Given the description of an element on the screen output the (x, y) to click on. 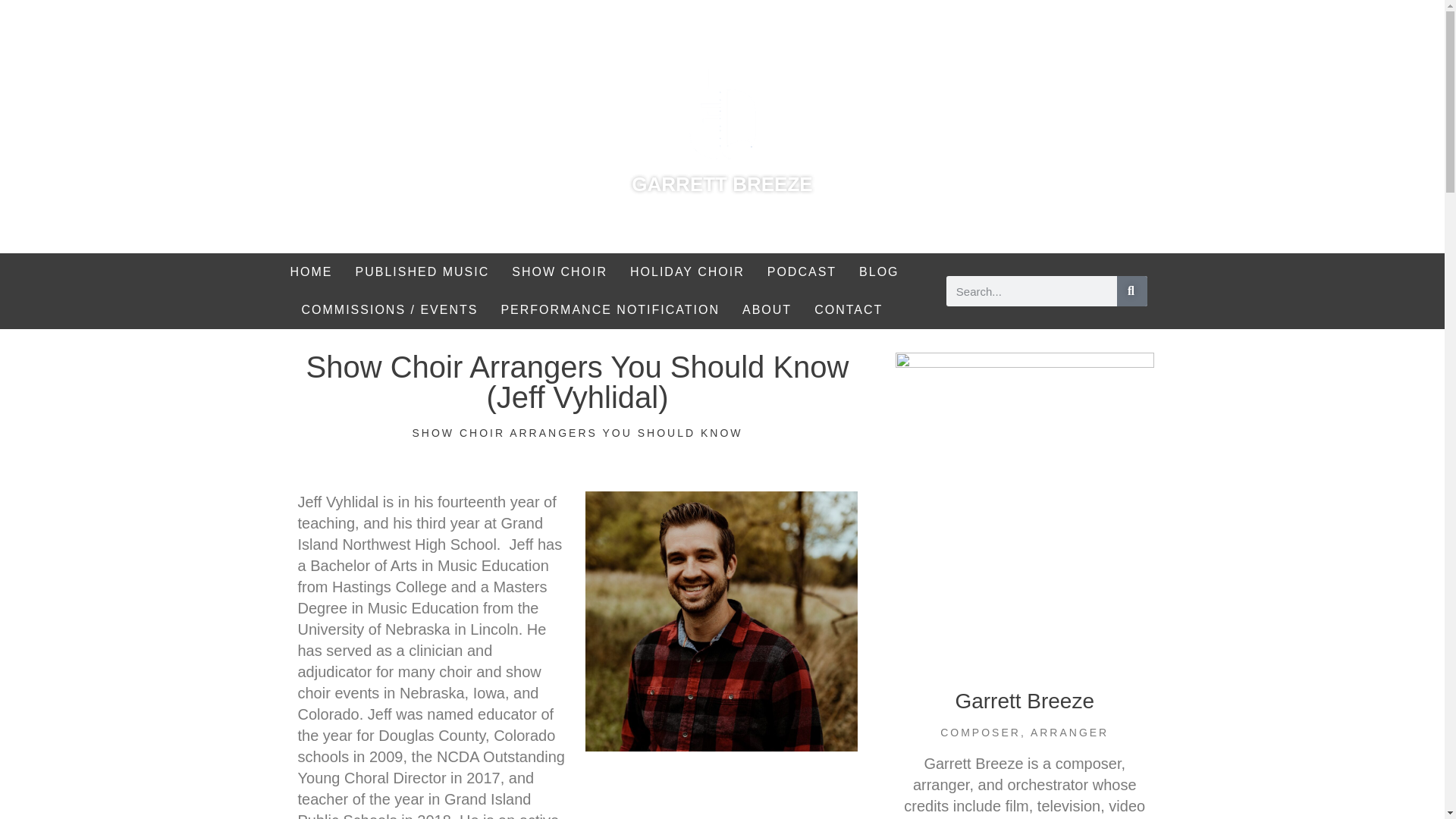
BLOG (878, 272)
HOLIDAY CHOIR (687, 272)
CONTACT (847, 310)
HOME (310, 272)
PERFORMANCE NOTIFICATION (609, 310)
PUBLISHED MUSIC (422, 272)
ABOUT (767, 310)
SHOW CHOIR (559, 272)
SHOW CHOIR ARRANGERS YOU SHOULD KNOW (577, 432)
GARRETT BREEZE (721, 183)
PODCAST (801, 272)
